Given the description of an element on the screen output the (x, y) to click on. 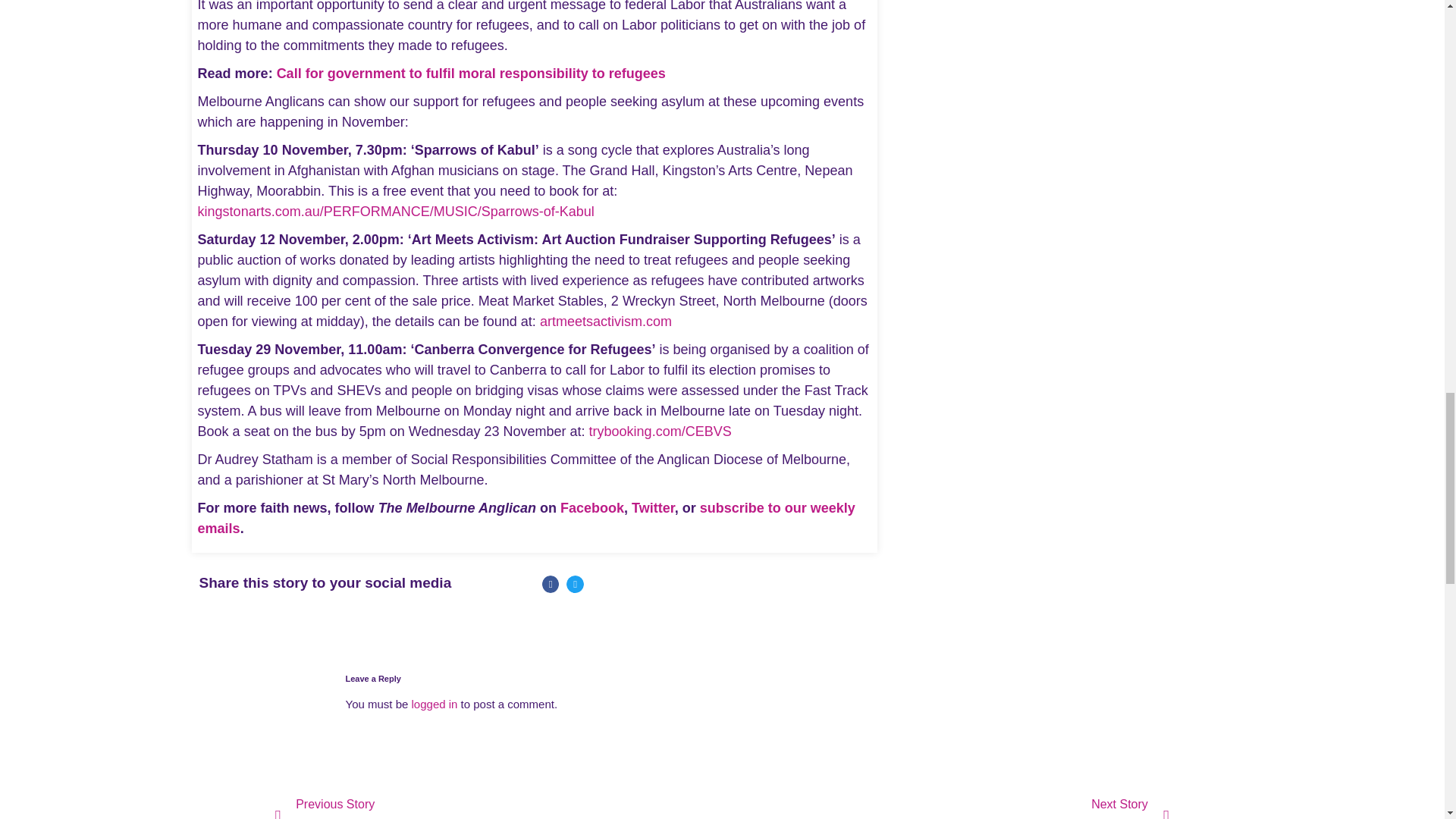
logged in (435, 703)
Twitter (653, 507)
artmeetsactivism.com (605, 321)
Facebook (592, 507)
subscribe to our weekly emails (527, 518)
